Given the description of an element on the screen output the (x, y) to click on. 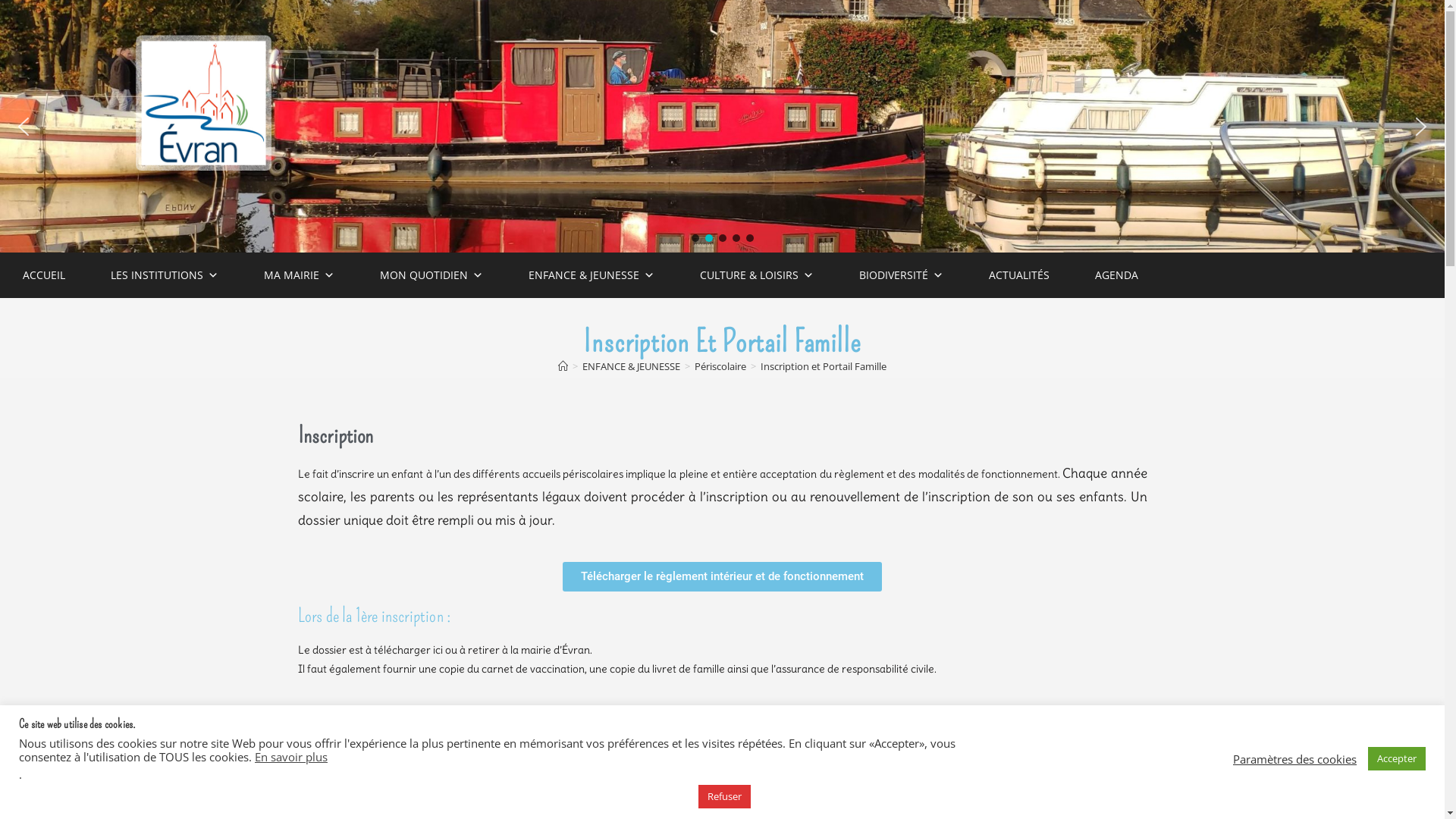
ACCUEIL Element type: text (43, 275)
Accepter Element type: text (1396, 758)
AGENDA Element type: text (1116, 275)
Refuser Element type: text (723, 796)
MA MAIRIE Element type: text (299, 275)
MON QUOTIDIEN Element type: text (431, 275)
LES INSTITUTIONS Element type: text (164, 275)
En savoir plus Element type: text (290, 756)
ENFANCE & JEUNESSE Element type: text (591, 275)
CULTURE & LOISIRS Element type: text (756, 275)
Inscription et Portail Famille Element type: text (823, 366)
ENFANCE & JEUNESSE Element type: text (631, 366)
